Given the description of an element on the screen output the (x, y) to click on. 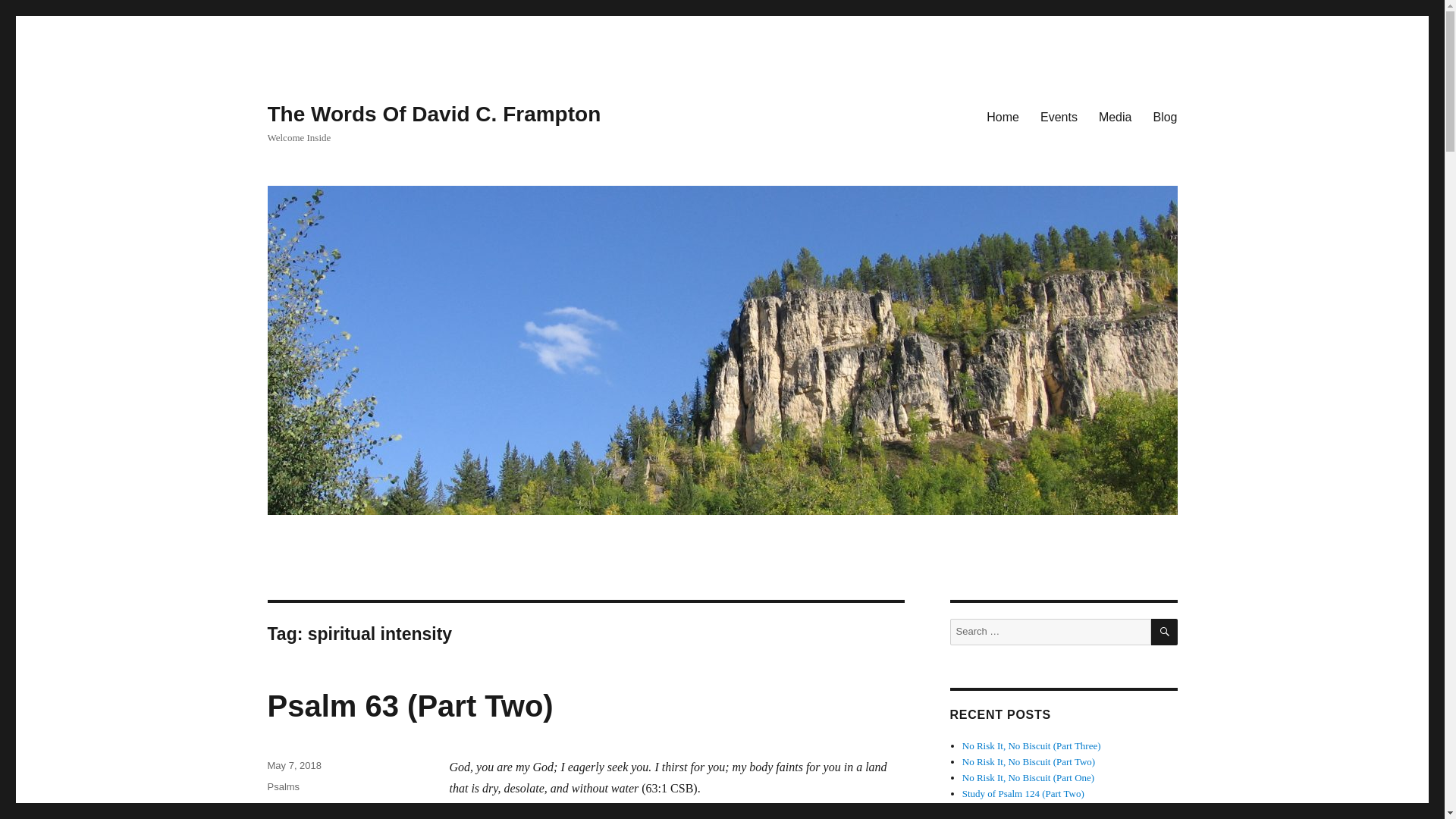
The Words Of David C. Frampton (432, 114)
confession of faith (306, 808)
Blog (1164, 116)
spiritual intensity (326, 818)
Media (1114, 116)
May 7, 2018 (293, 765)
Psalms (282, 786)
seeking God (325, 810)
Home (1002, 116)
Events (1058, 116)
